Given the description of an element on the screen output the (x, y) to click on. 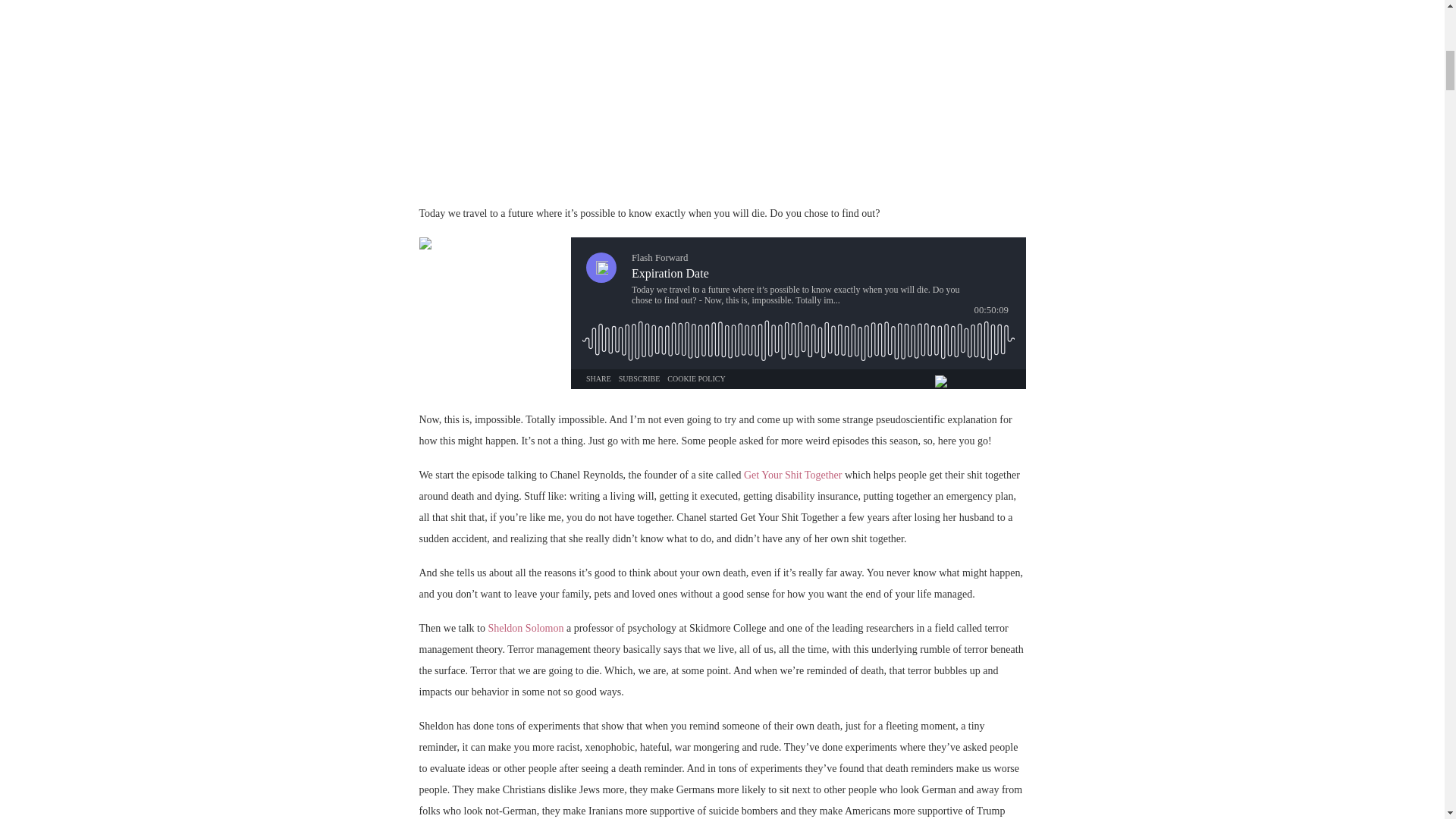
Get Your Shit Together (792, 474)
Sheldon Solomon (525, 627)
